Given the description of an element on the screen output the (x, y) to click on. 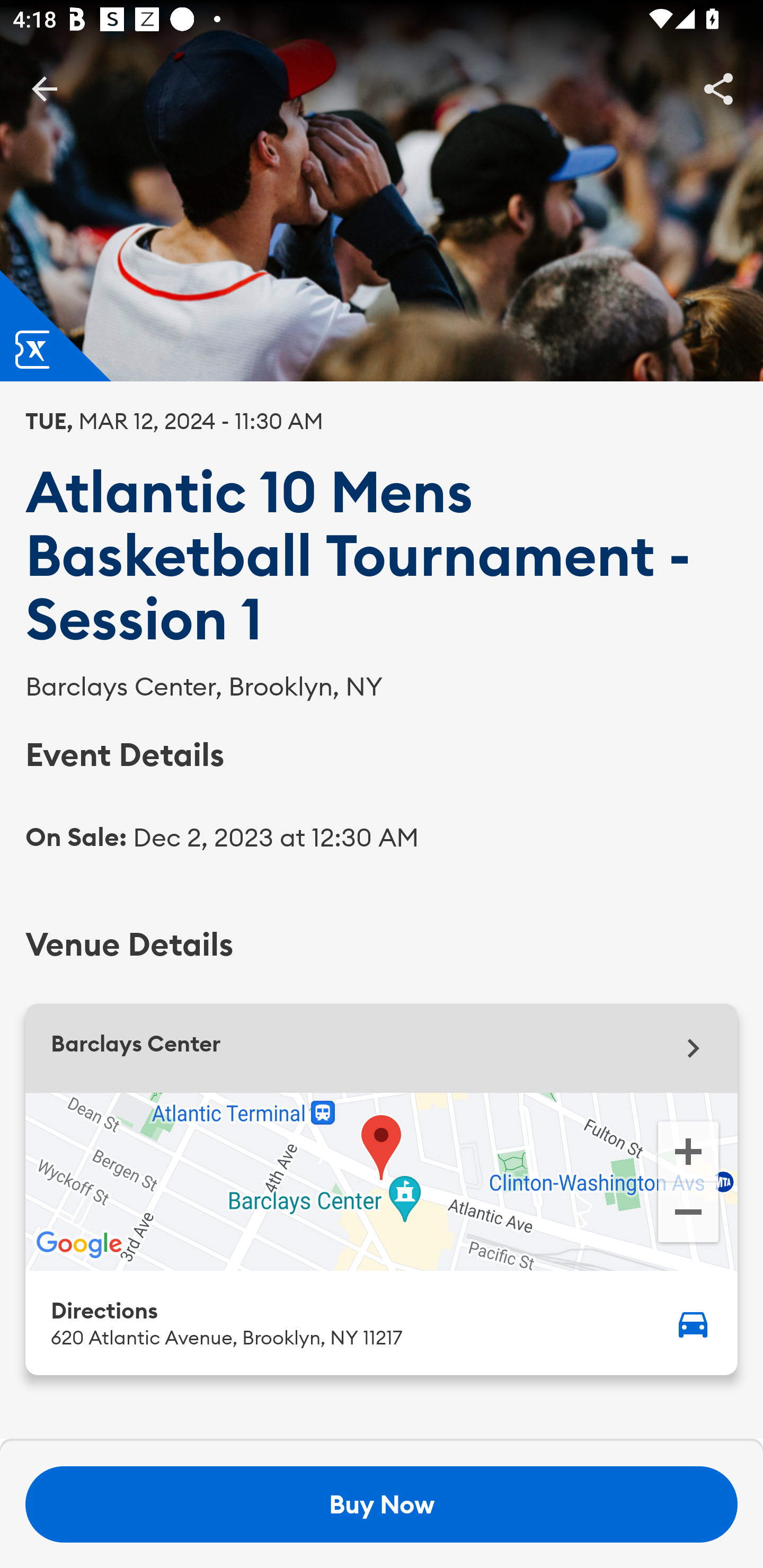
BackButton (44, 88)
Share (718, 88)
Barclays Center (381, 1047)
Google Map Barclays Center.  Zoom in Zoom out (381, 1181)
Zoom in (687, 1149)
Zoom out (687, 1214)
Directions 620 Atlantic Avenue, Brooklyn, NY 11217 (381, 1322)
Buy Now (381, 1504)
